Given the description of an element on the screen output the (x, y) to click on. 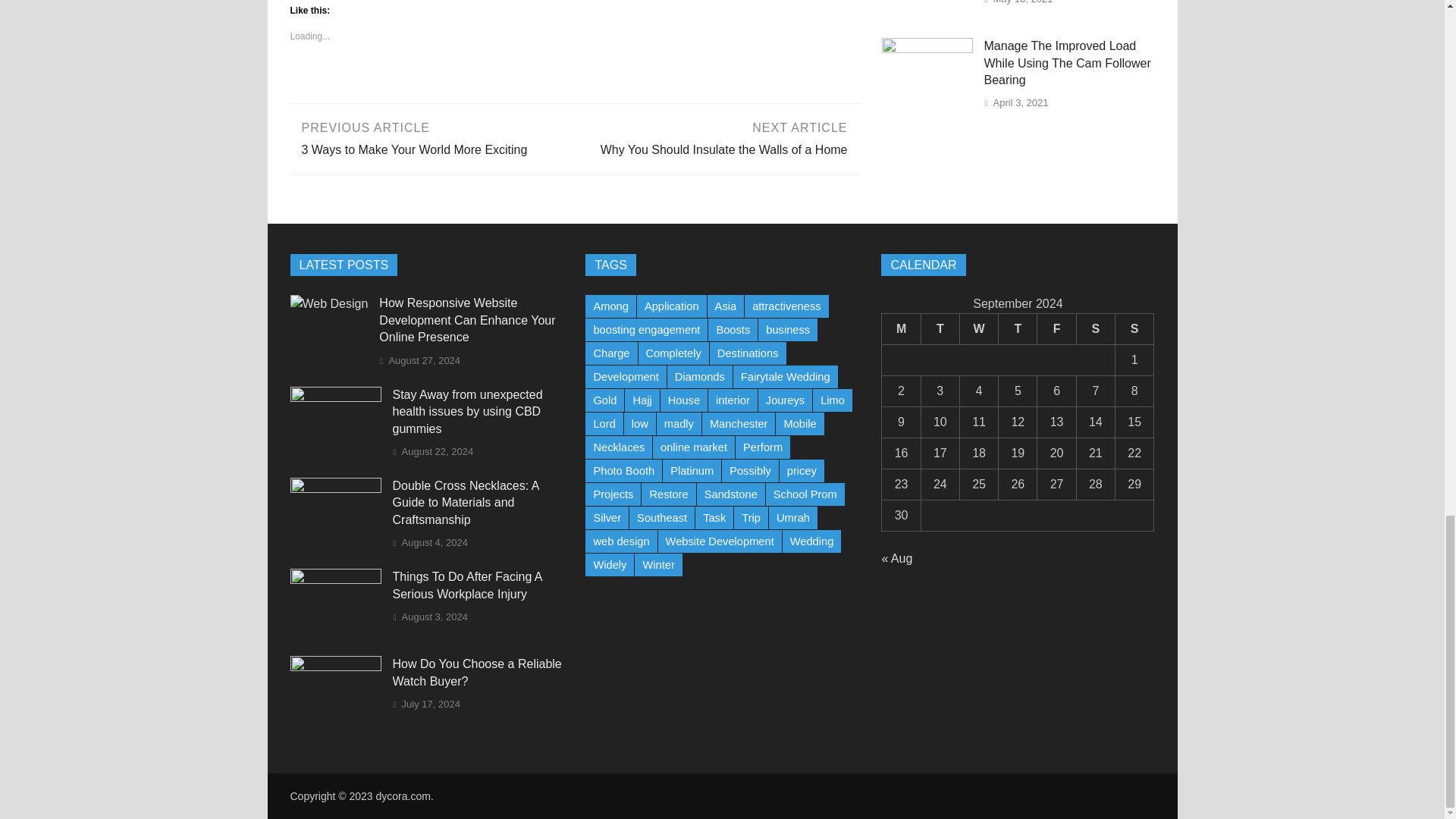
Tuesday (939, 328)
Wednesday (716, 137)
How Do You Choose a Reliable Watch Buyer? (978, 328)
Thursday (334, 666)
Things To Do After Facing A Serious Workplace Injury (1017, 328)
Saturday (334, 579)
